Given the description of an element on the screen output the (x, y) to click on. 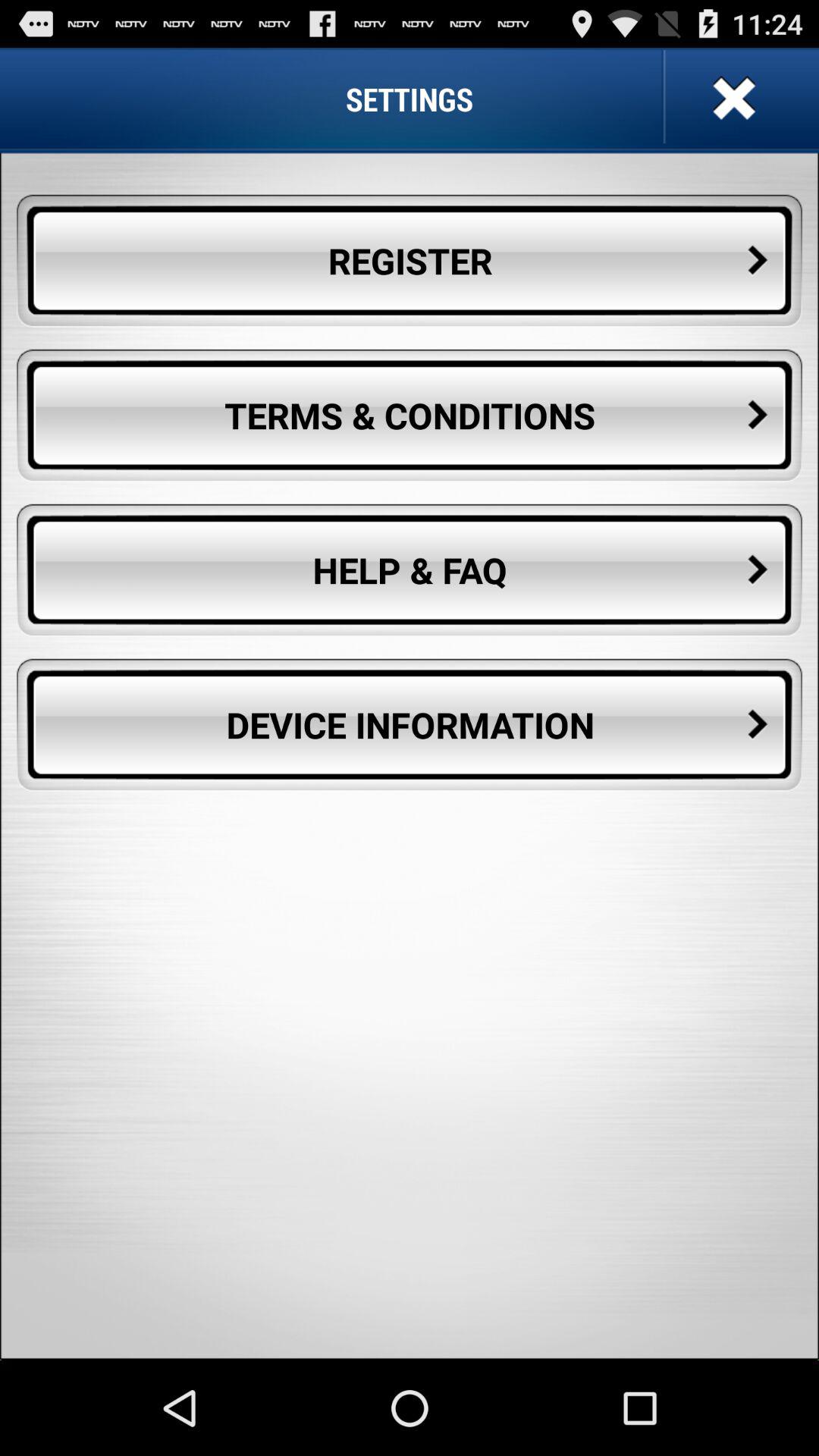
swipe to the terms & conditions button (409, 415)
